Given the description of an element on the screen output the (x, y) to click on. 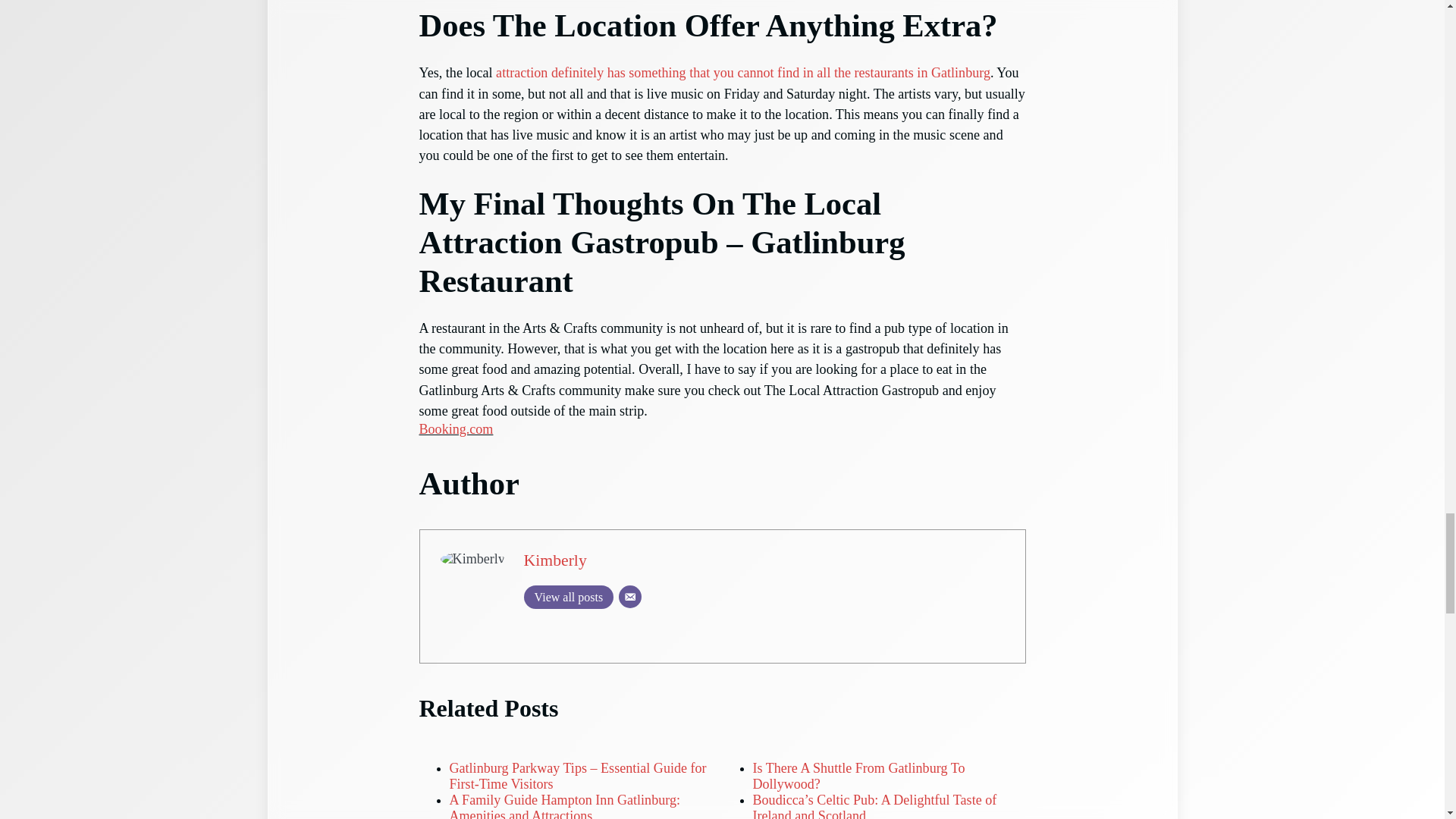
View all posts (569, 597)
Kimberly (555, 560)
Top Attractions to See in Gatlinburg (743, 72)
Booking.com (456, 428)
Is There A Shuttle From Gatlinburg To Dollywood? (857, 775)
